Given the description of an element on the screen output the (x, y) to click on. 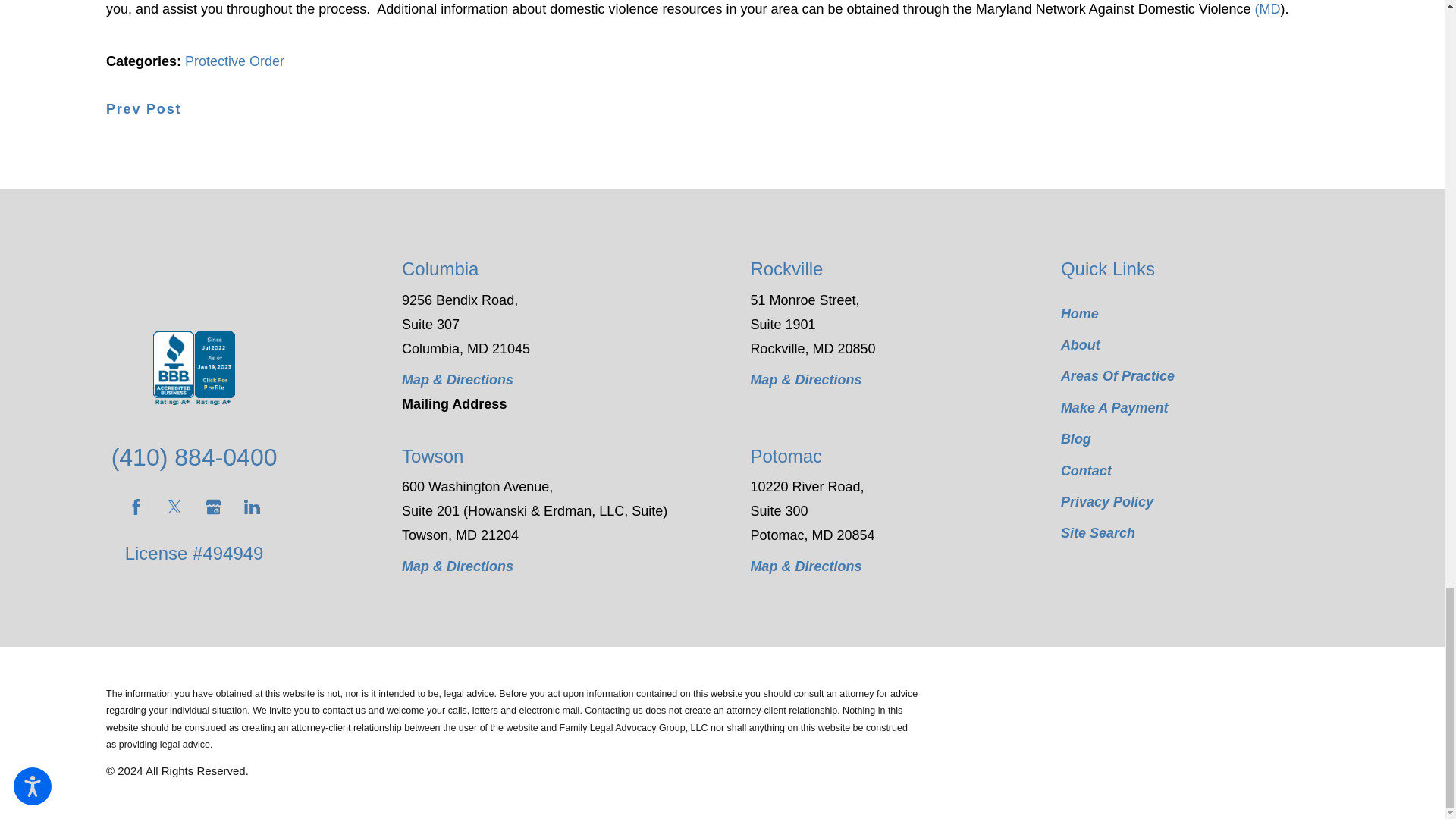
Twitter (175, 506)
LinkedIn (252, 506)
Facebook (136, 506)
Google Business Profile (213, 506)
